Given the description of an element on the screen output the (x, y) to click on. 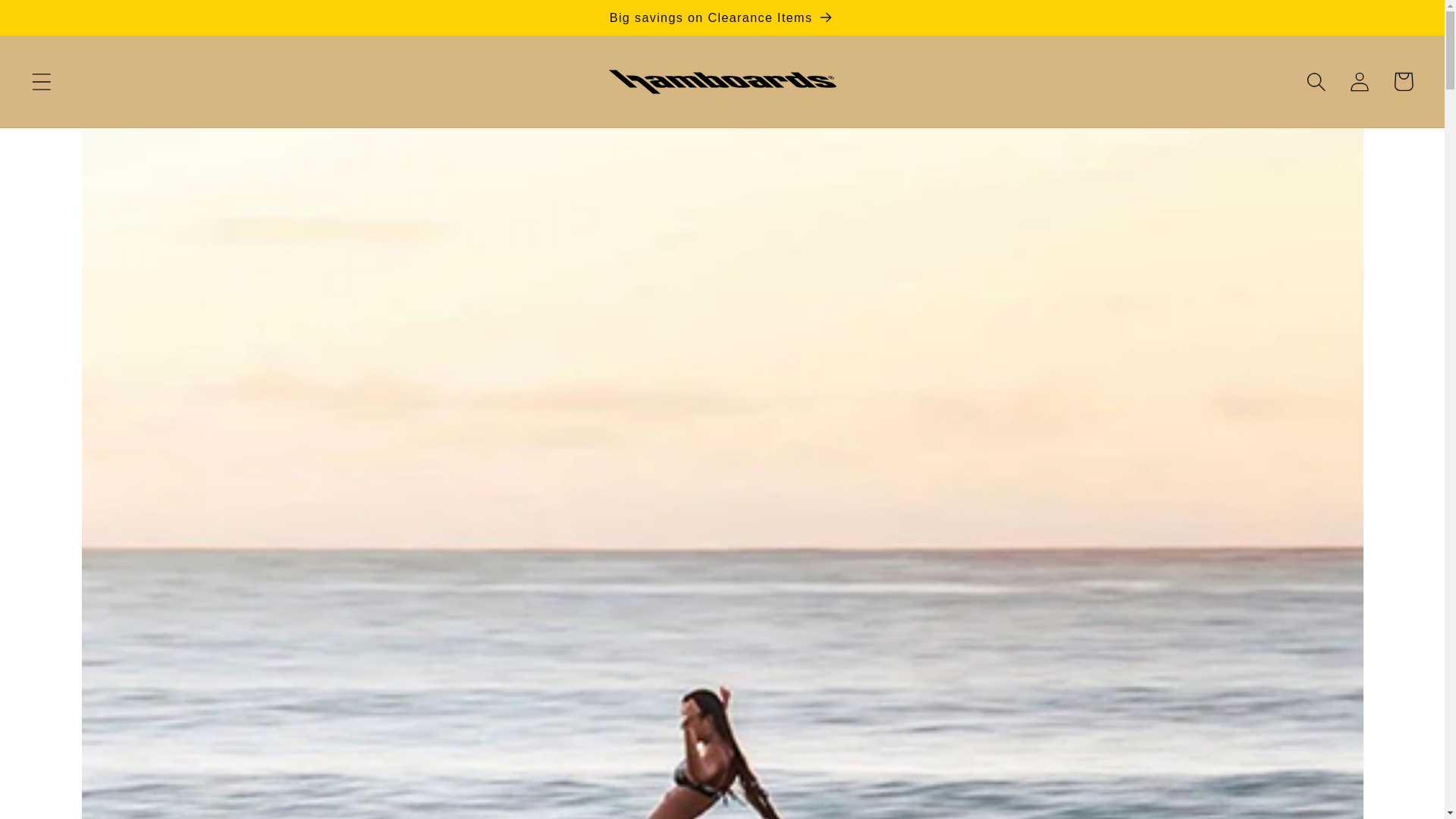
Cart (1403, 81)
Log in (1359, 81)
Skip to content (59, 22)
